Given the description of an element on the screen output the (x, y) to click on. 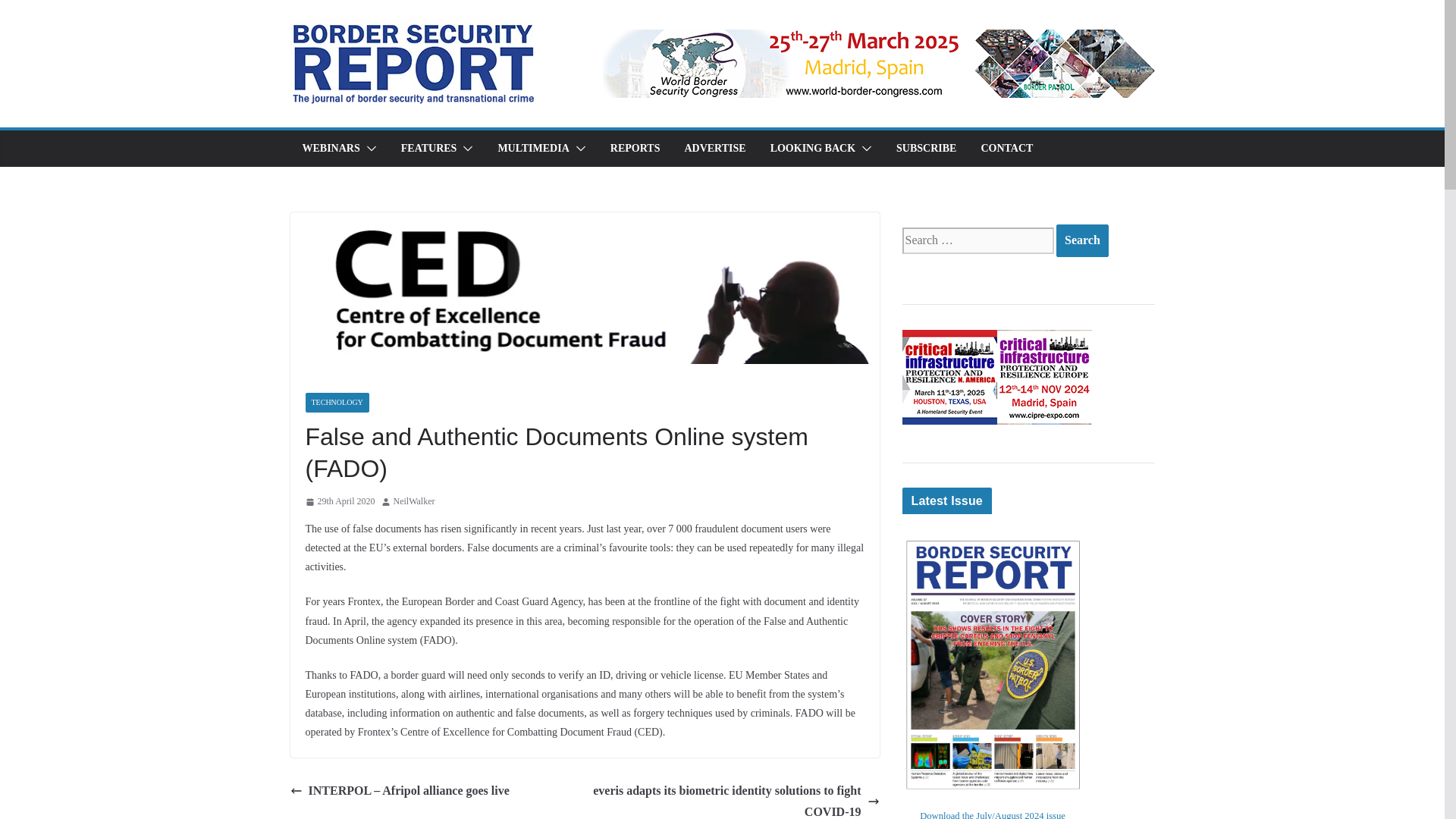
MULTIMEDIA (533, 148)
REPORTS (635, 148)
NeilWalker (414, 501)
Search (1082, 240)
WEBINARS (330, 148)
SUBSCRIBE (926, 148)
CONTACT (1005, 148)
LOOKING BACK (813, 148)
29th April 2020 (339, 501)
Search (1082, 240)
